Given the description of an element on the screen output the (x, y) to click on. 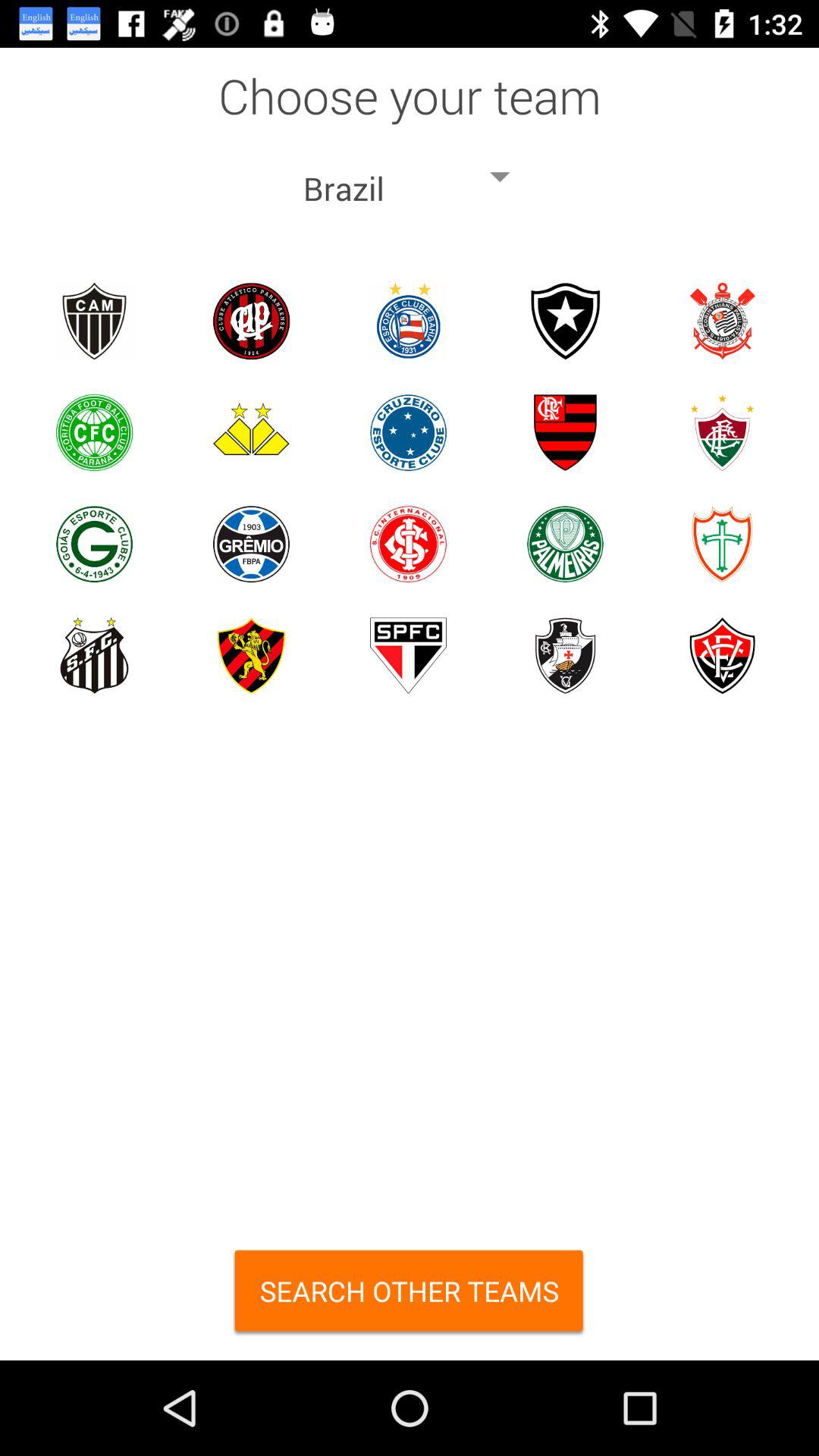
turn off search other teams (409, 1296)
